Given the description of an element on the screen output the (x, y) to click on. 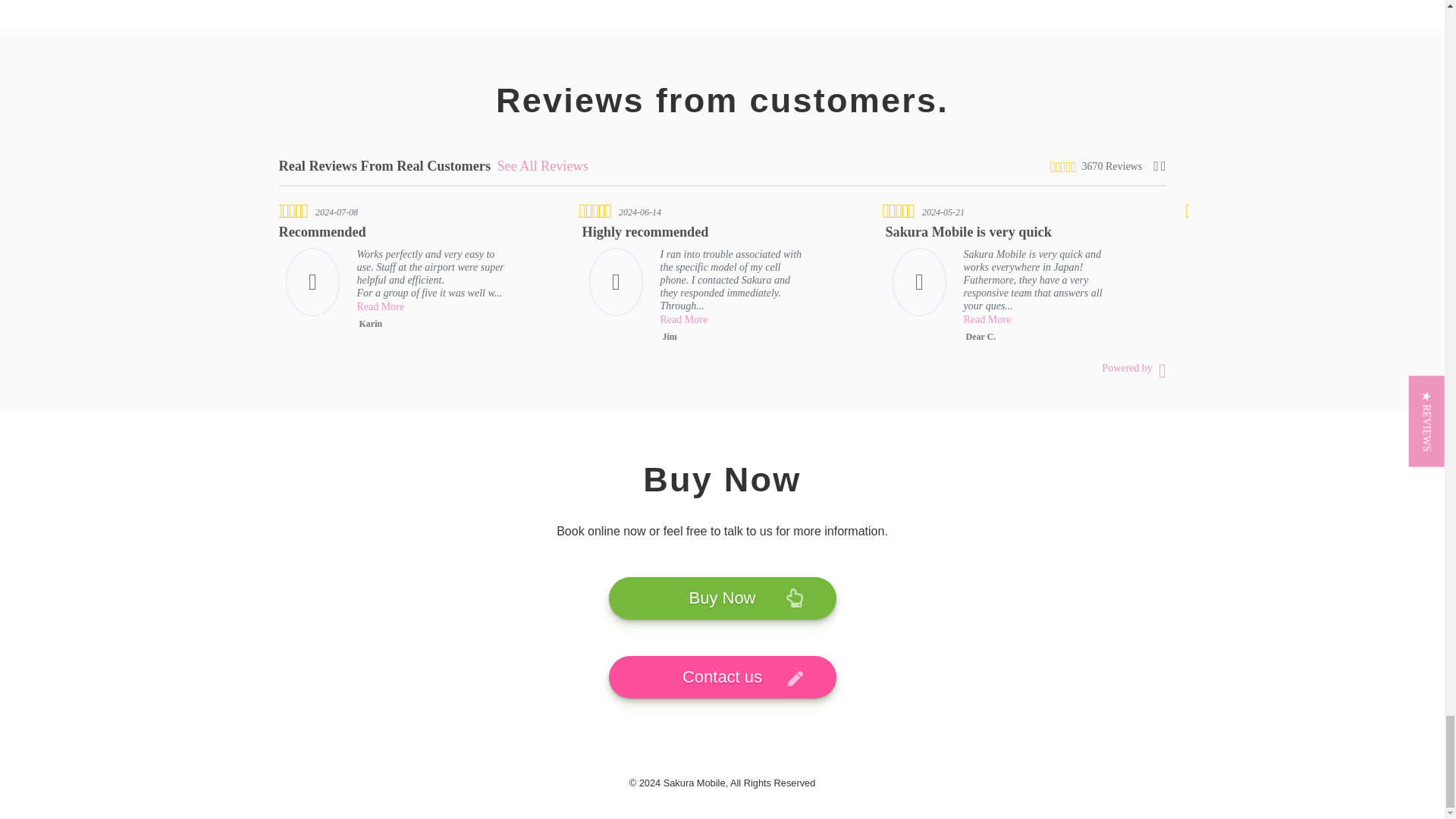
Buy Now (721, 598)
Powered by (1134, 367)
See All Reviews (542, 165)
Contact us (721, 677)
